Given the description of an element on the screen output the (x, y) to click on. 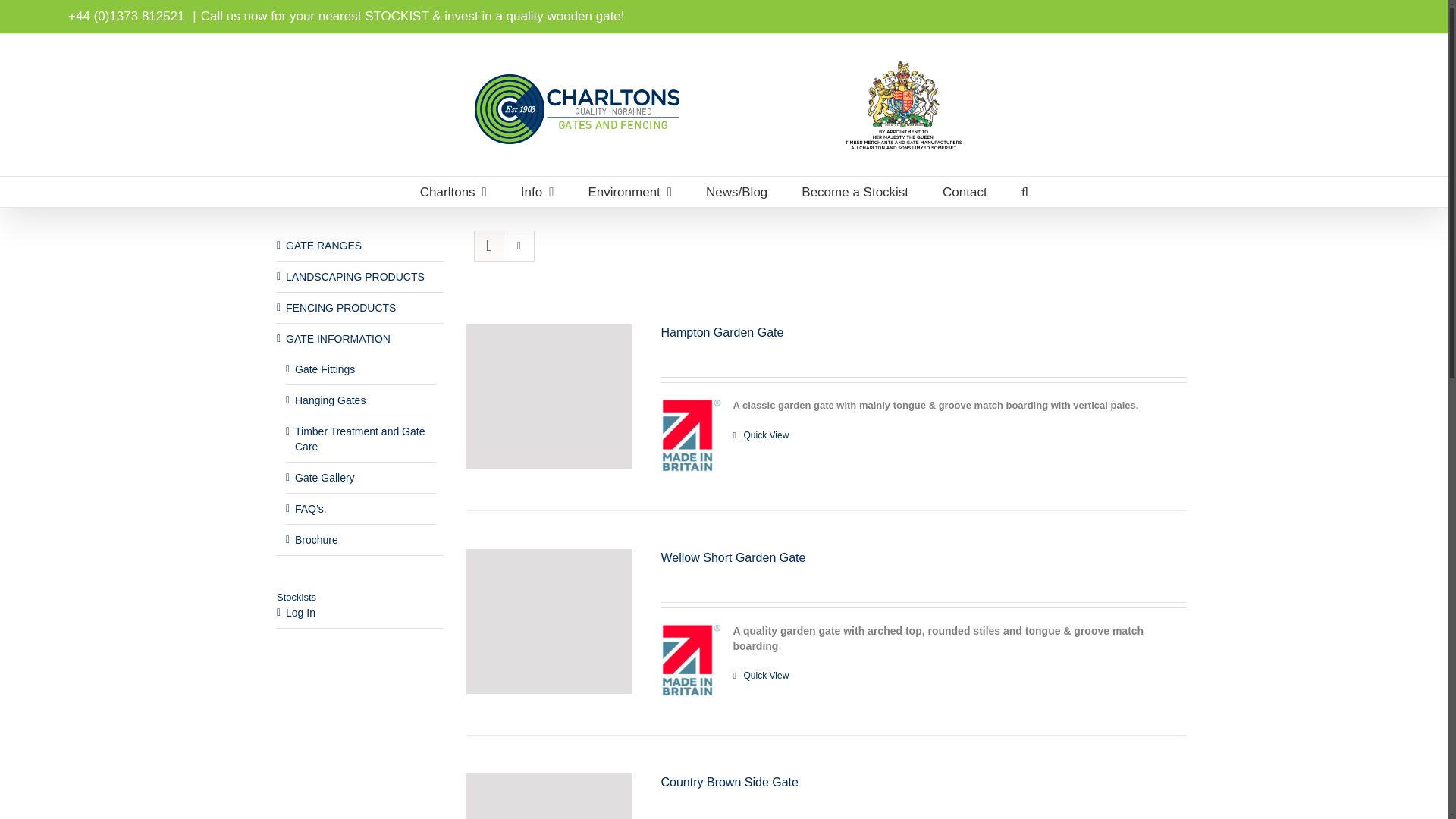
Charltons (453, 191)
Environment (629, 191)
Become a Stockist (855, 191)
Info (537, 191)
Contact (964, 191)
